Given the description of an element on the screen output the (x, y) to click on. 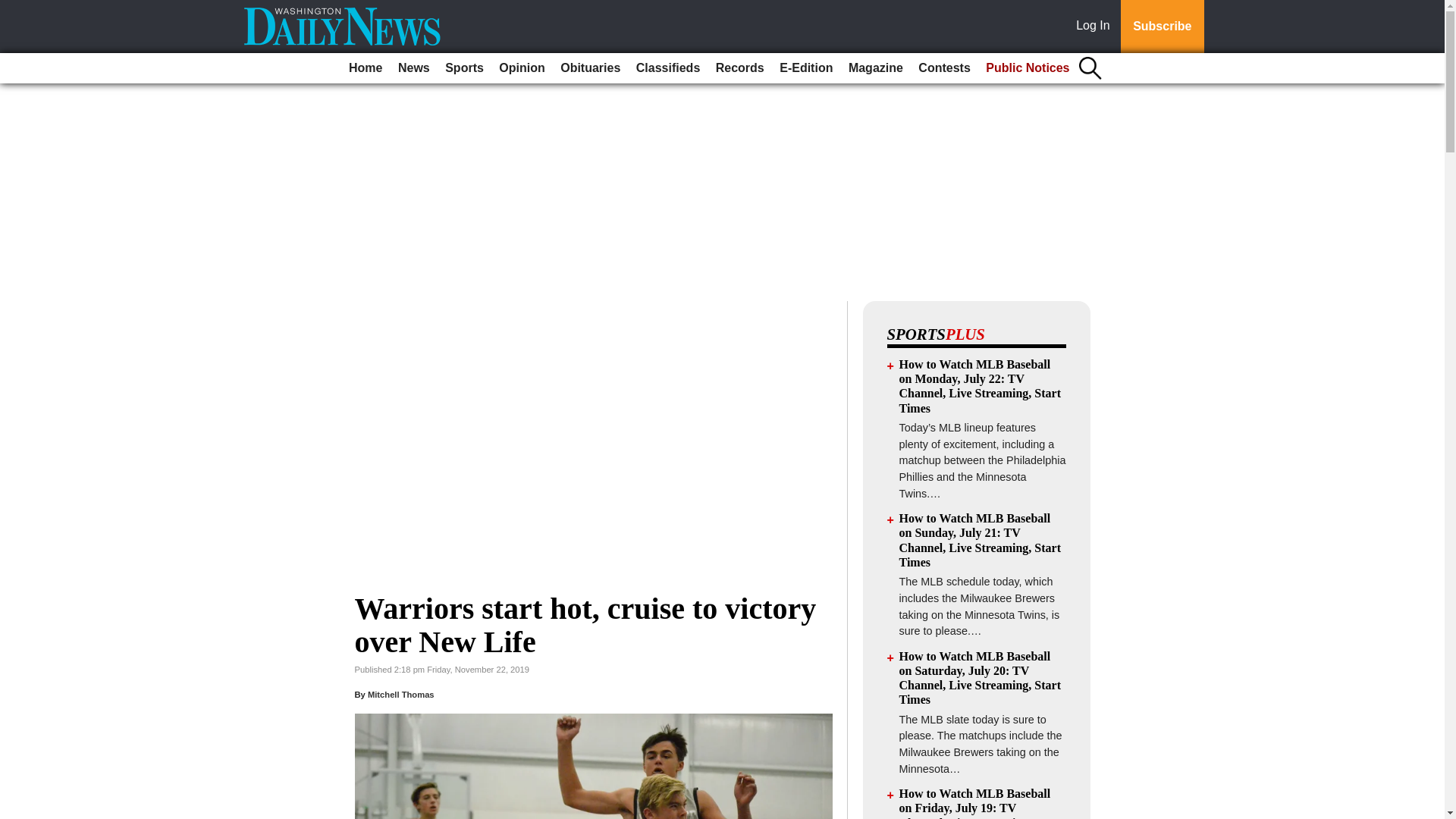
Home (365, 68)
Contests (943, 68)
Opinion (521, 68)
Classifieds (668, 68)
Records (740, 68)
Sports (464, 68)
Obituaries (590, 68)
Log In (1095, 26)
Magazine (875, 68)
E-Edition (805, 68)
Public Notices (1027, 68)
